Given the description of an element on the screen output the (x, y) to click on. 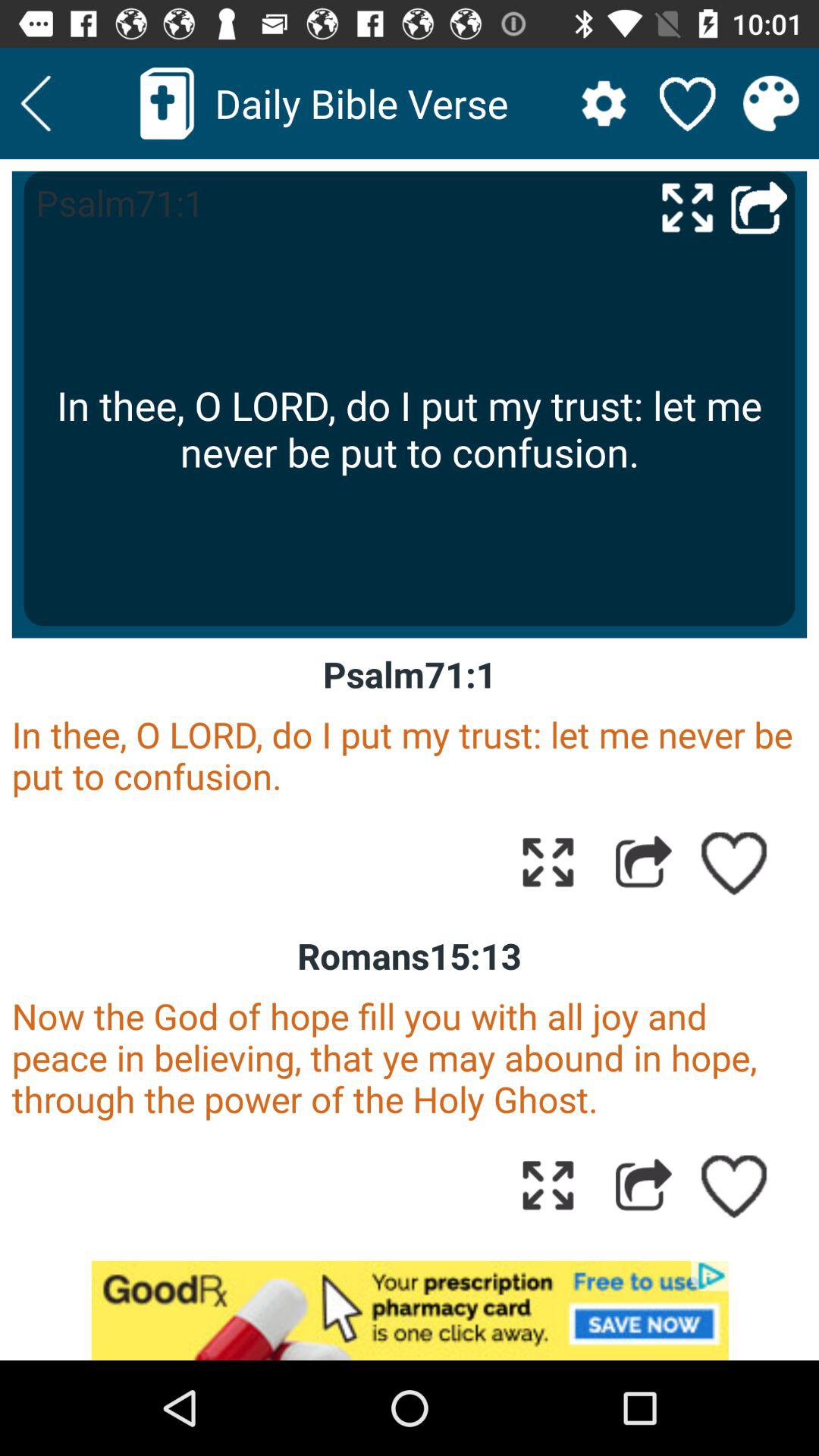
go back (759, 206)
